Given the description of an element on the screen output the (x, y) to click on. 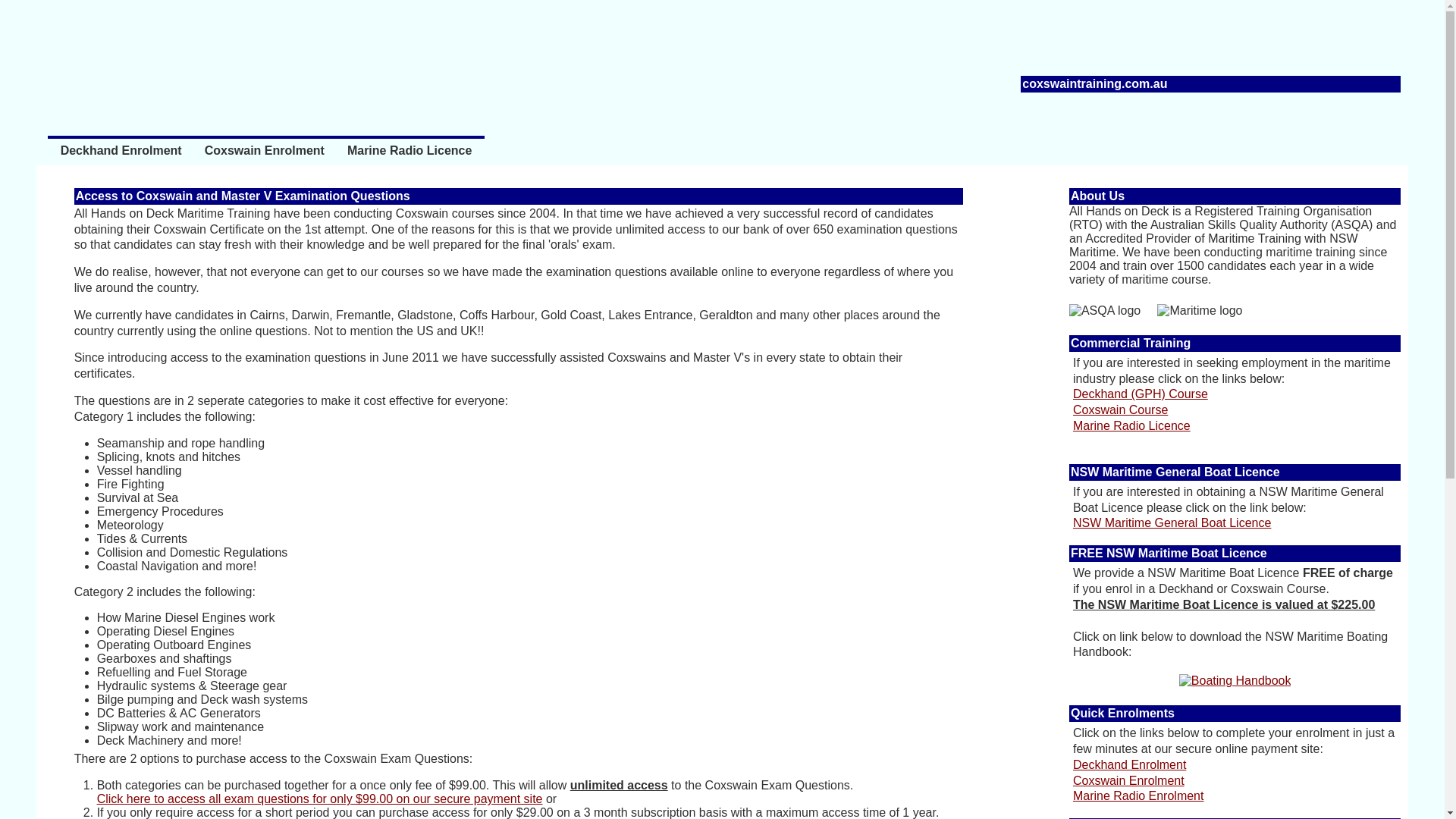
Deckhand Enrolment Element type: text (1129, 764)
Deckhand (GPH) Course Element type: text (1140, 393)
Marine Radio Licence Element type: text (409, 156)
Coxswain Course Element type: text (1120, 409)
Deckhand Enrolment Element type: text (121, 156)
NSW Maritime General Boat Licence Element type: text (1171, 522)
Marine Radio Licence Element type: text (1131, 425)
Coxswain Enrolment Element type: text (264, 156)
Marine Radio Enrolment Element type: text (1138, 795)
Coxswain Enrolment Element type: text (1128, 780)
Boating Handbook Element type: hover (1235, 680)
